Given the description of an element on the screen output the (x, y) to click on. 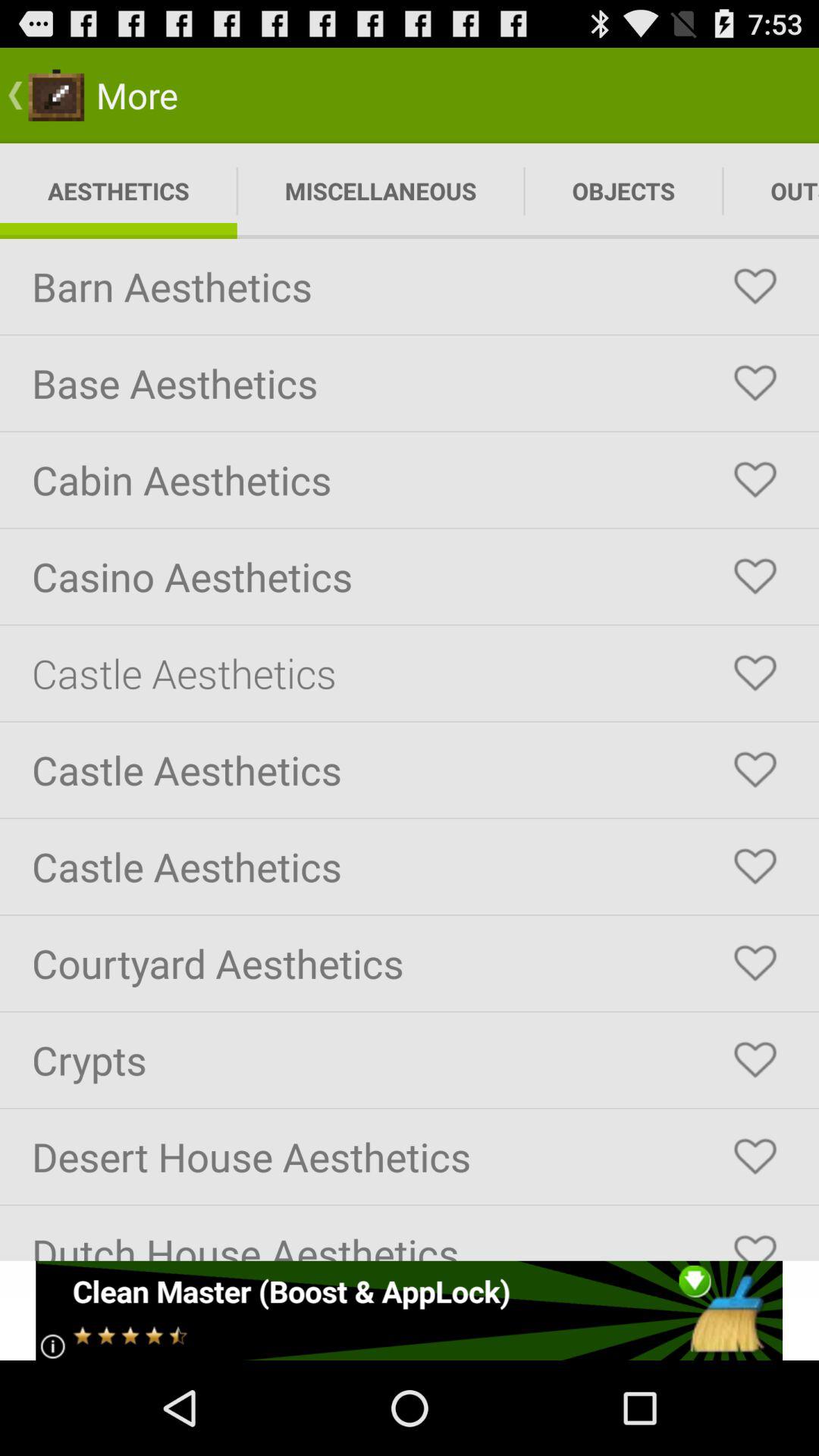
advertisement (408, 1310)
